Given the description of an element on the screen output the (x, y) to click on. 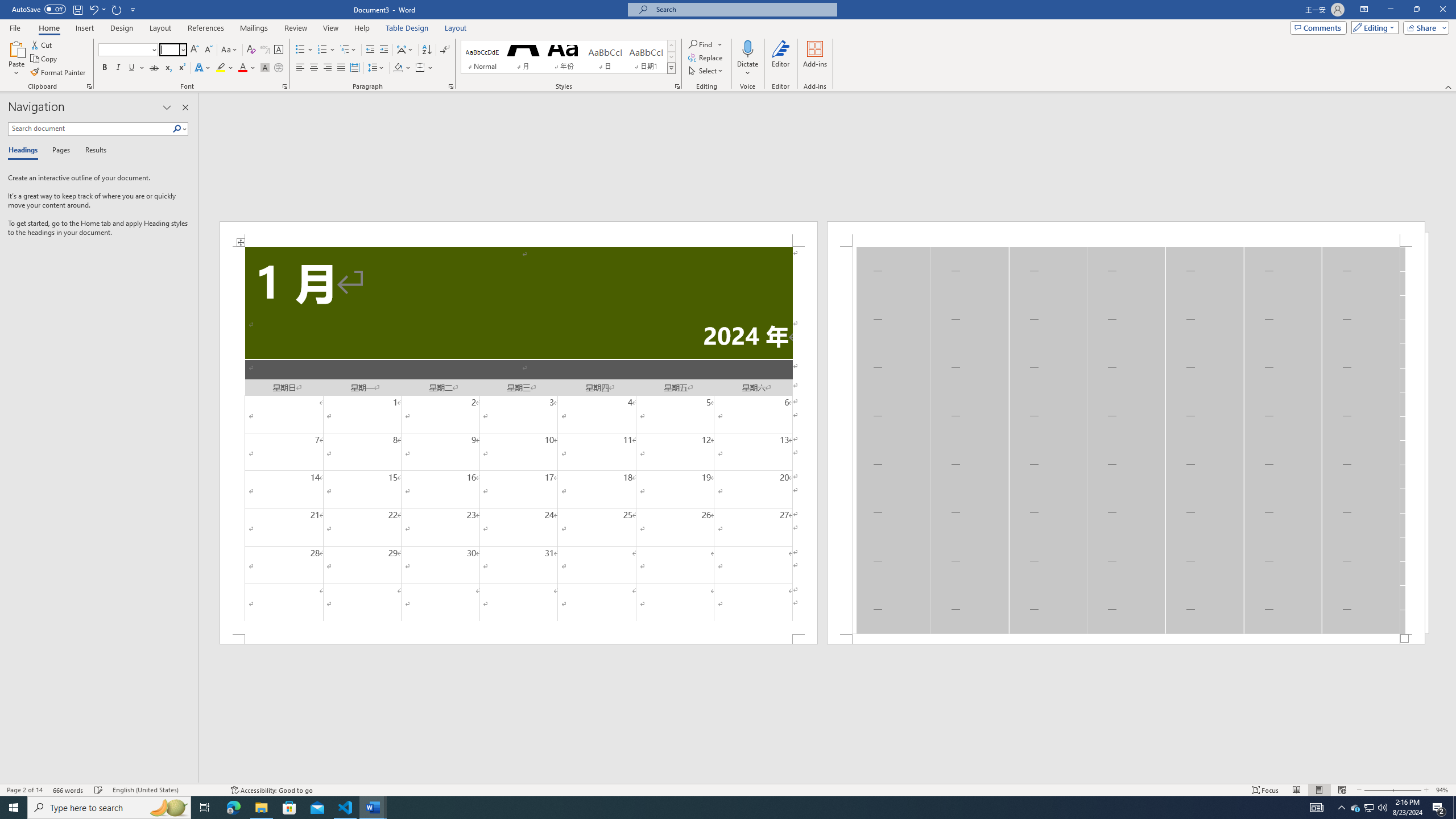
Page 1 content (518, 439)
